Given the description of an element on the screen output the (x, y) to click on. 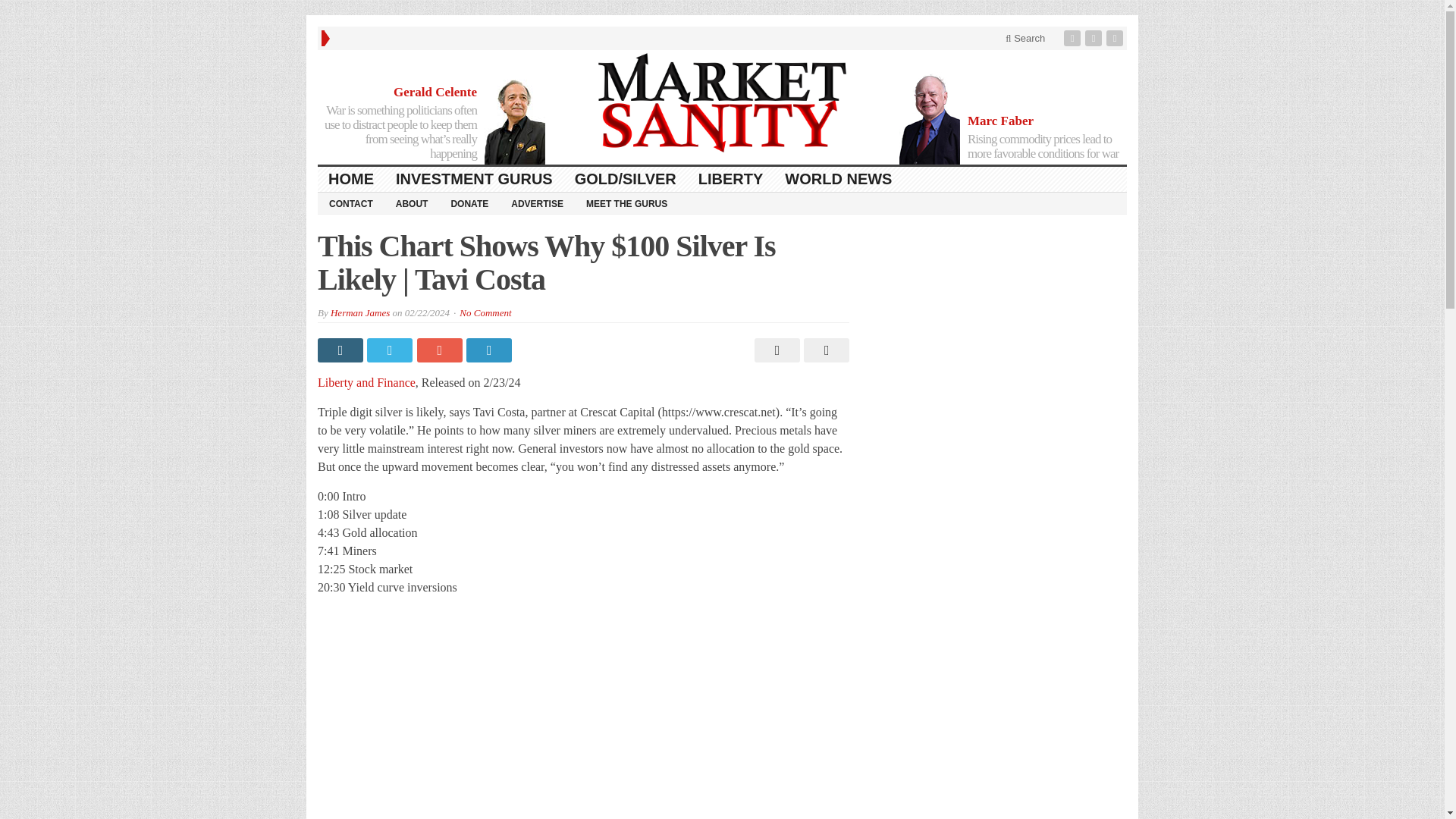
Twitter (1094, 37)
Gerald Celente (435, 92)
Marc Faber (1000, 120)
Facebook (1073, 37)
Site feed (1115, 37)
The Truth About Our Markets (722, 102)
HOME (351, 179)
Search (1024, 37)
INVESTMENT GURUS (474, 179)
